Given the description of an element on the screen output the (x, y) to click on. 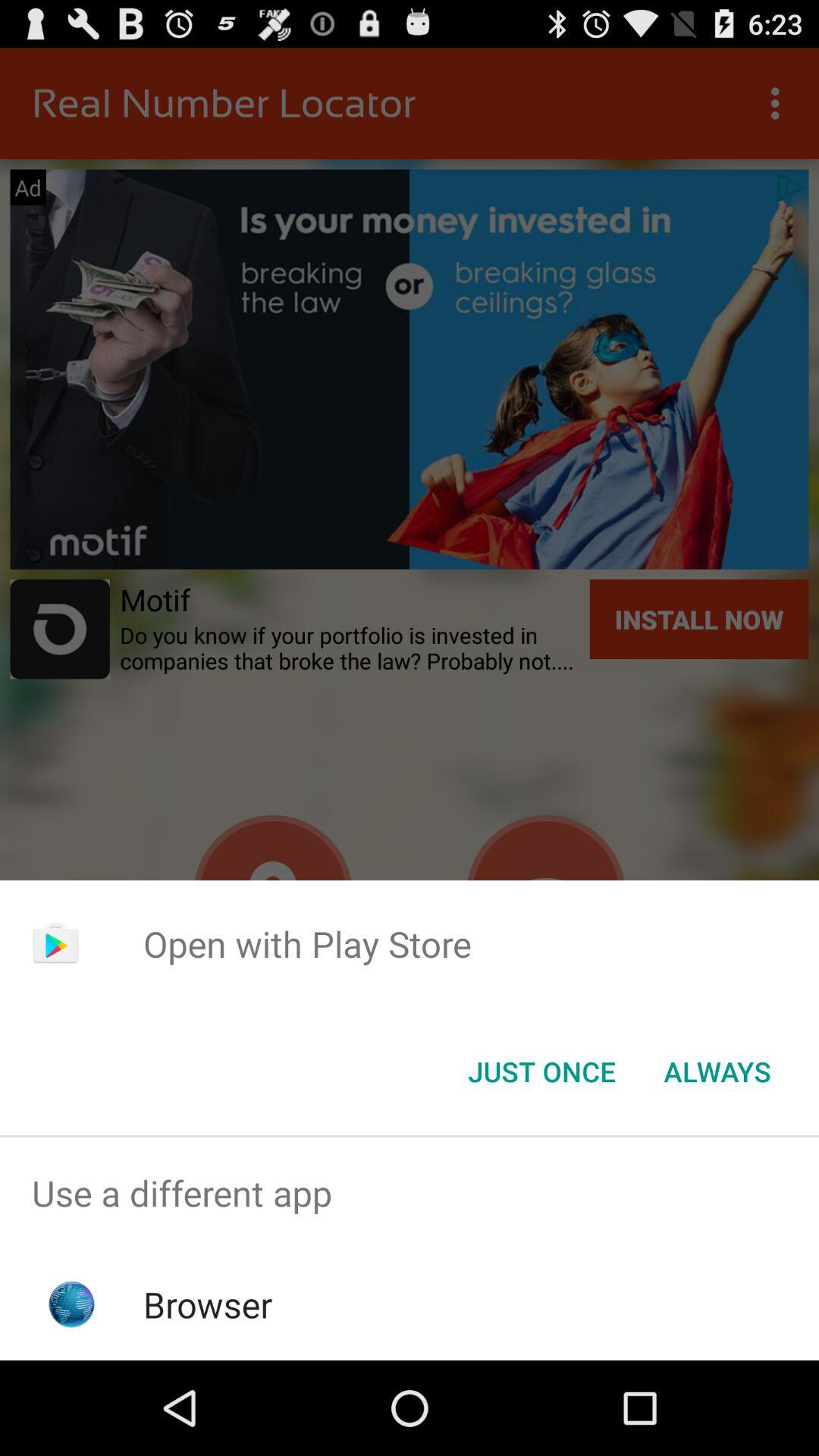
turn on the icon below the use a different (207, 1304)
